Given the description of an element on the screen output the (x, y) to click on. 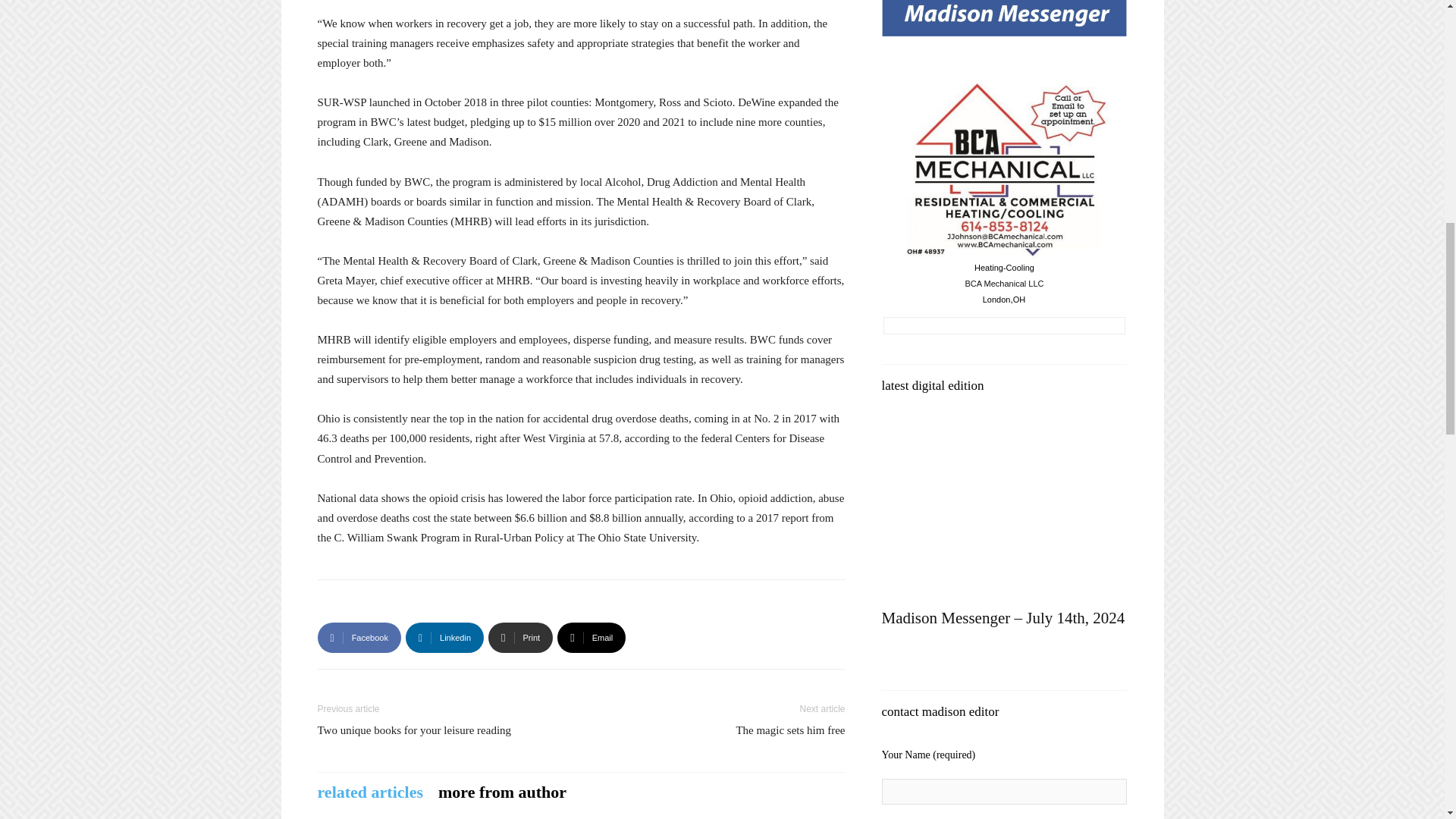
Print (520, 637)
Email (591, 637)
Facebook (358, 637)
bottomFacebookLike (430, 603)
Linkedin (444, 637)
